Given the description of an element on the screen output the (x, y) to click on. 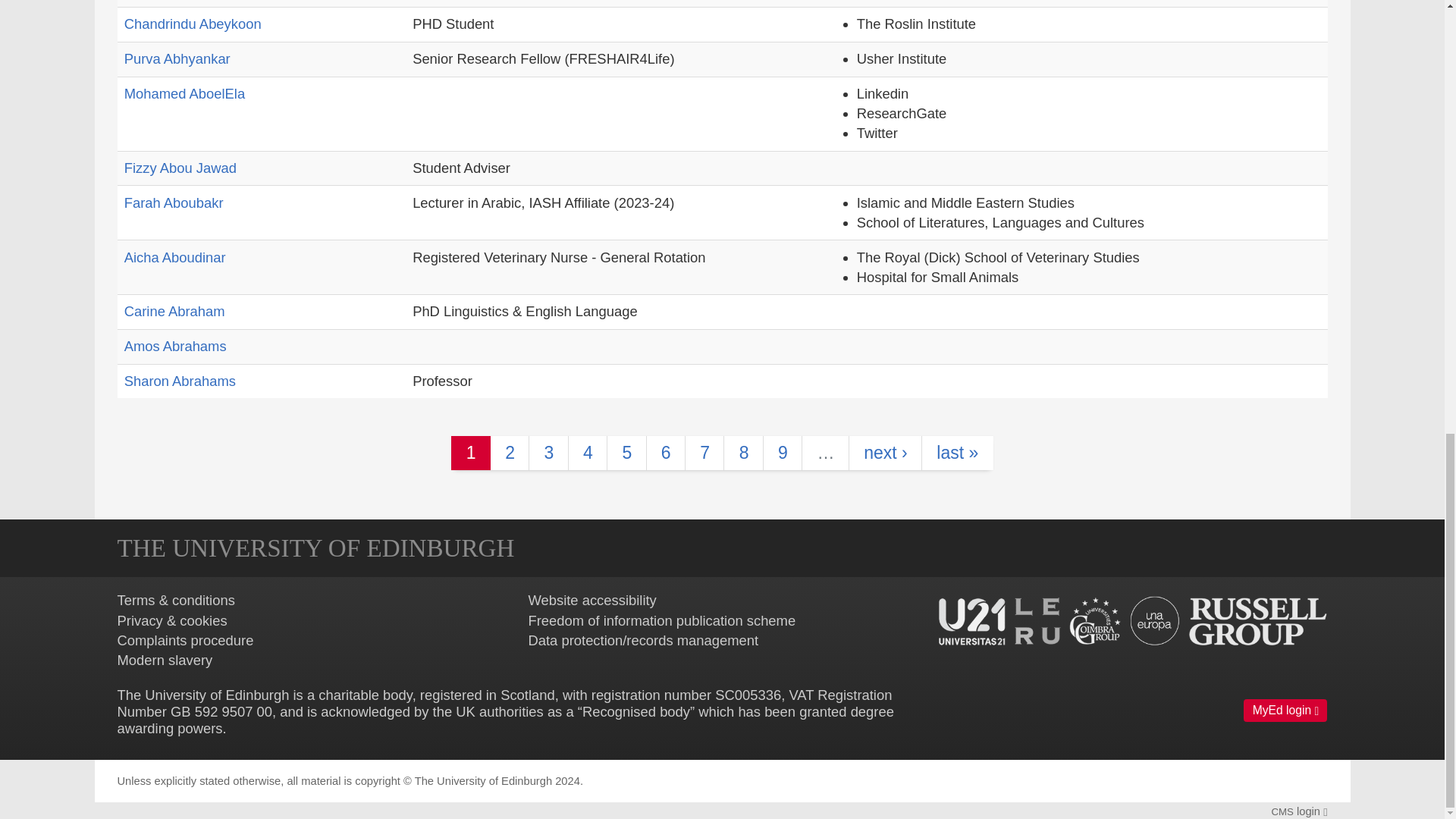
Go to page 7 (703, 452)
Go to page 3 (547, 452)
2 (509, 452)
Go to next page (884, 452)
Aicha Aboudinar (174, 256)
Go to page 5 (626, 452)
9 (782, 452)
Go to page 8 (742, 452)
Fizzy Abou Jawad (179, 167)
6 (665, 452)
